Given the description of an element on the screen output the (x, y) to click on. 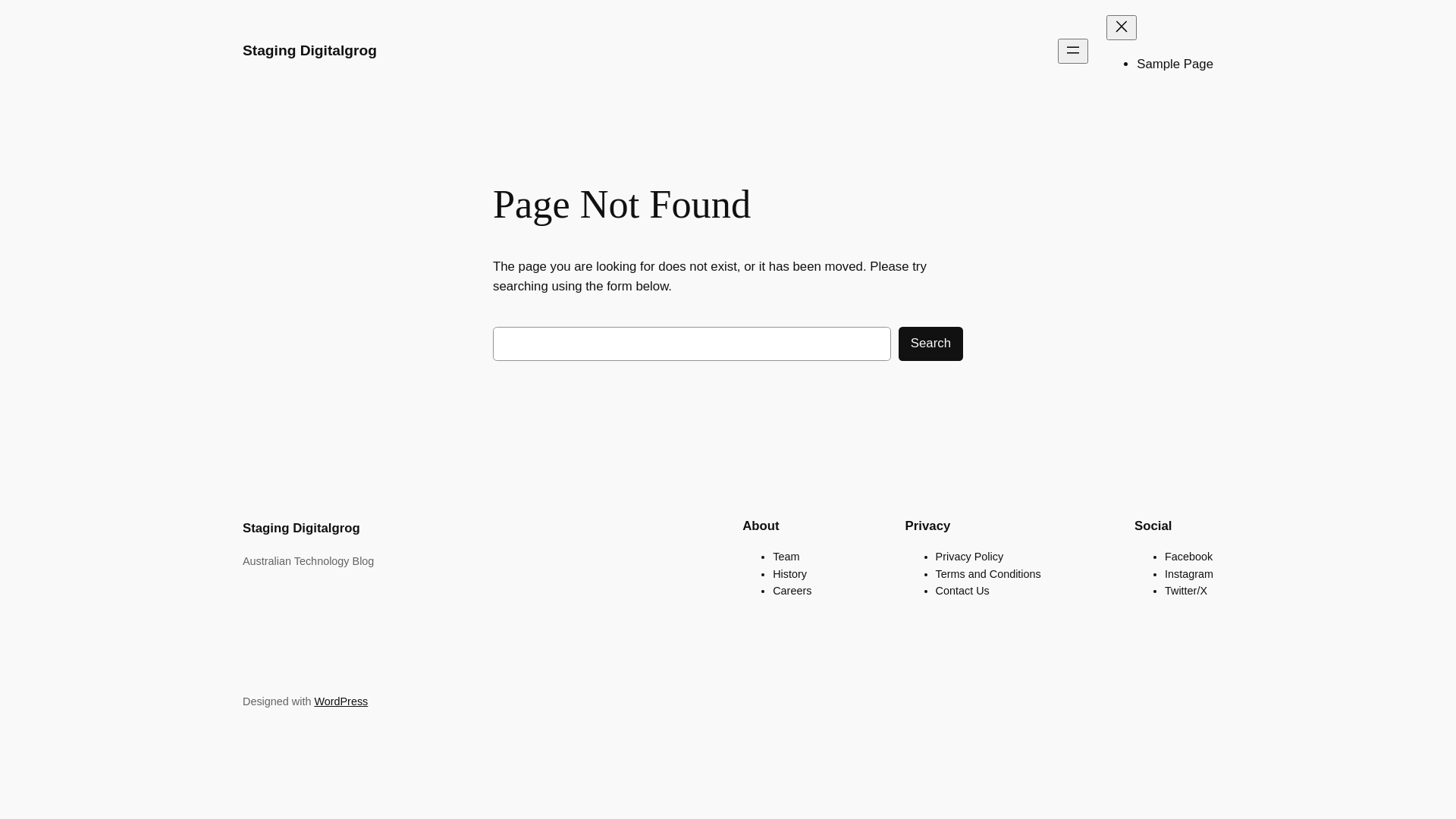
History Element type: text (789, 573)
Search Element type: text (930, 343)
Instagram Element type: text (1188, 573)
Contact Us Element type: text (962, 590)
Staging Digitalgrog Element type: text (309, 50)
Terms and Conditions Element type: text (988, 573)
Sample Page Element type: text (1174, 63)
WordPress Element type: text (340, 701)
Careers Element type: text (791, 590)
Twitter/X Element type: text (1185, 590)
Team Element type: text (785, 556)
Staging Digitalgrog Element type: text (301, 527)
Facebook Element type: text (1188, 556)
Privacy Policy Element type: text (969, 556)
